Given the description of an element on the screen output the (x, y) to click on. 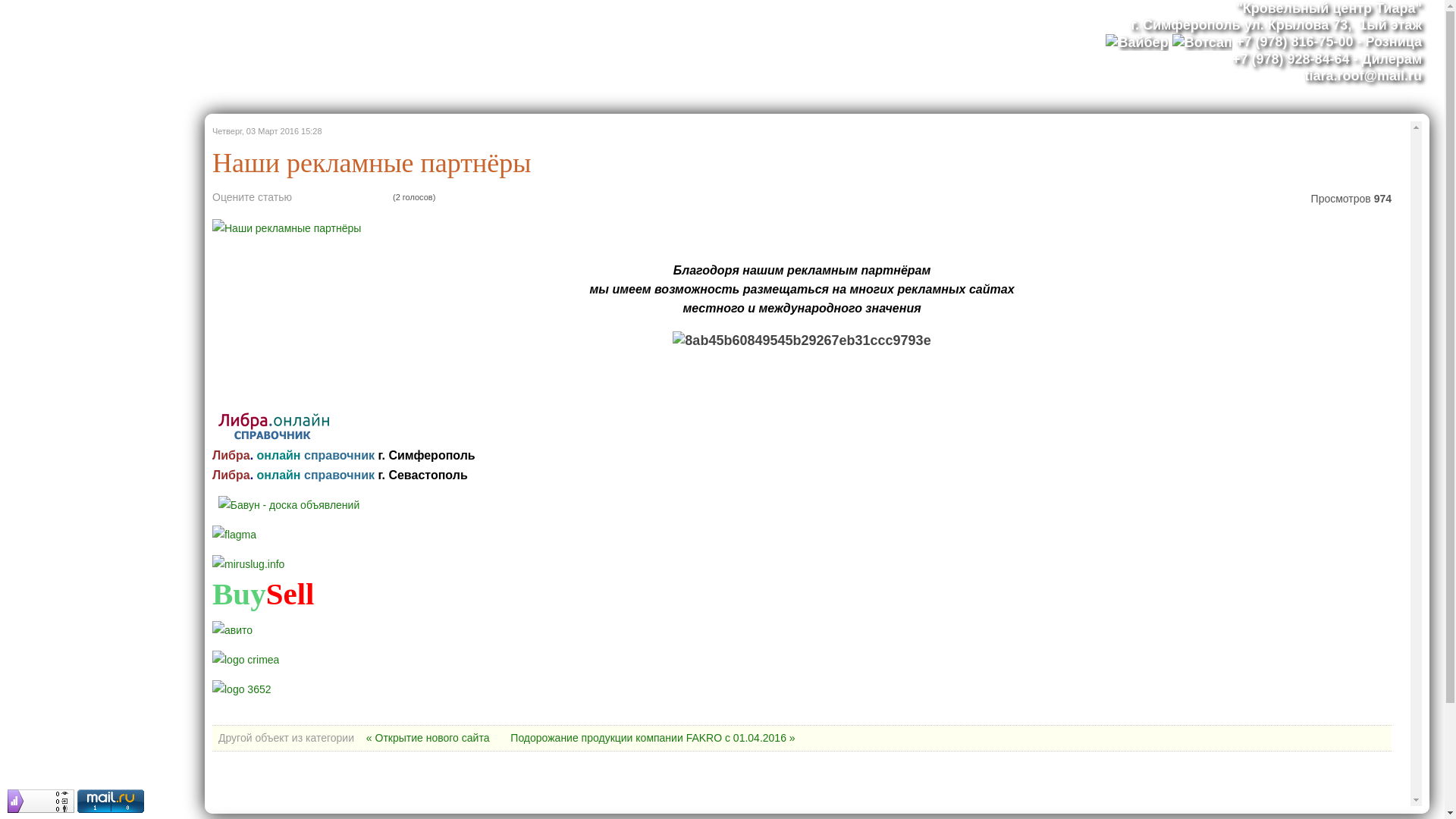
5 Element type: text (341, 197)
3 Element type: text (322, 197)
4 Element type: text (332, 197)
BuySell Element type: text (262, 600)
1 Element type: text (303, 197)
2 Element type: text (313, 197)
